Given the description of an element on the screen output the (x, y) to click on. 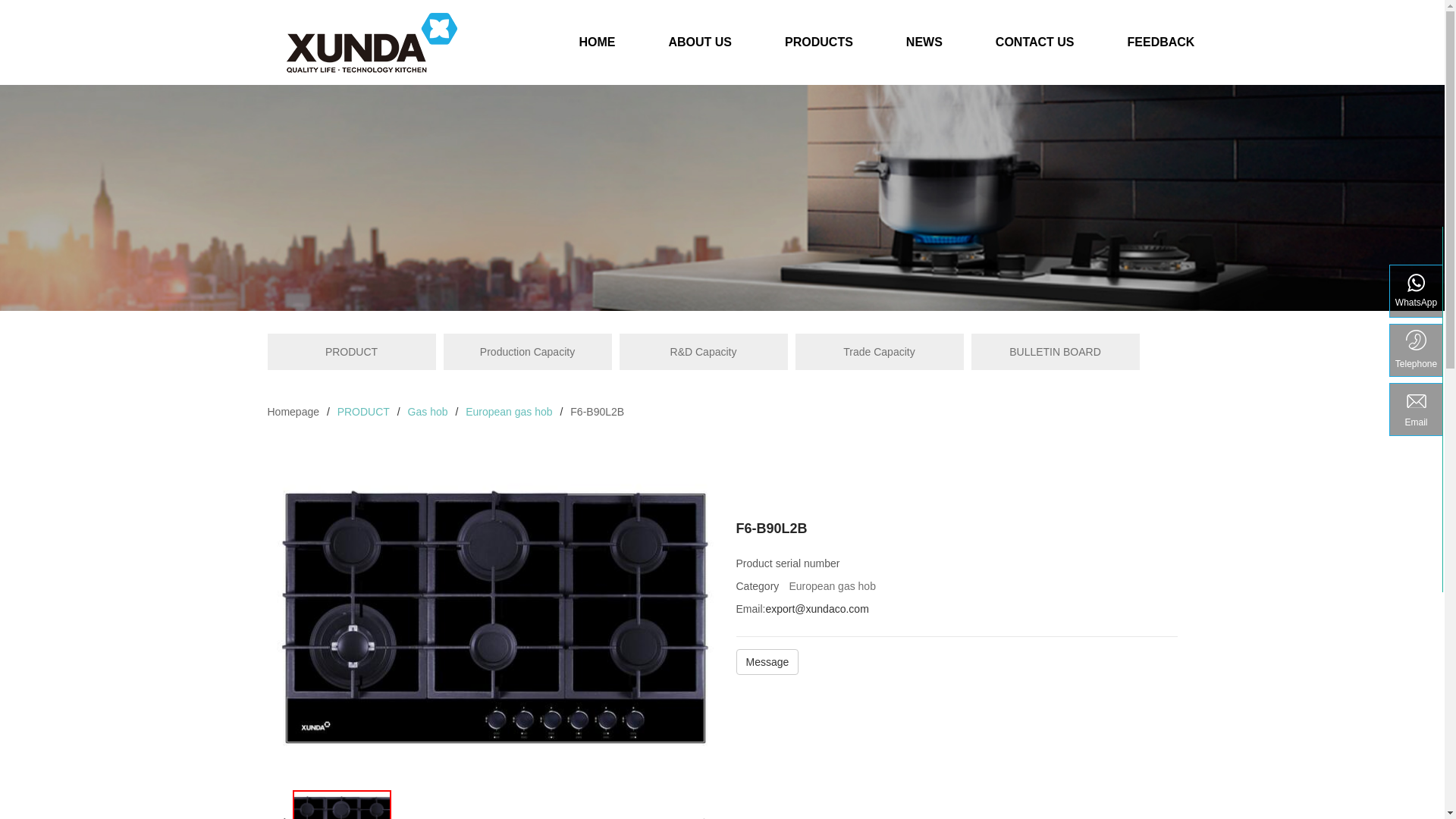
Production Capacity Element type: text (526, 351)
Email Element type: text (1416, 409)
Gas hob Element type: text (427, 411)
BULLETIN BOARD Element type: text (1054, 351)
PRODUCTS Element type: hover (722, 197)
R&D Capacity Element type: text (702, 351)
WhatsApp Element type: text (1416, 290)
European gas hob Element type: text (508, 411)
HOME Element type: text (596, 48)
NEWS Element type: text (924, 48)
Telephone Element type: text (1416, 350)
Trade Capacity Element type: text (878, 351)
Homepage Element type: text (292, 411)
European gas hob Element type: text (831, 585)
ABOUT US Element type: text (699, 48)
Message Element type: text (766, 664)
	Xunda Science & Technology Group Co., Ltd. Element type: hover (371, 42)
CONTACT US Element type: text (1035, 48)
FEEDBACK Element type: text (1161, 48)
export@xundaco.com Element type: text (816, 608)
Message Element type: text (766, 661)
PRODUCTS Element type: text (818, 48)
PRODUCT Element type: text (350, 351)
PRODUCT Element type: text (363, 411)
